Given the description of an element on the screen output the (x, y) to click on. 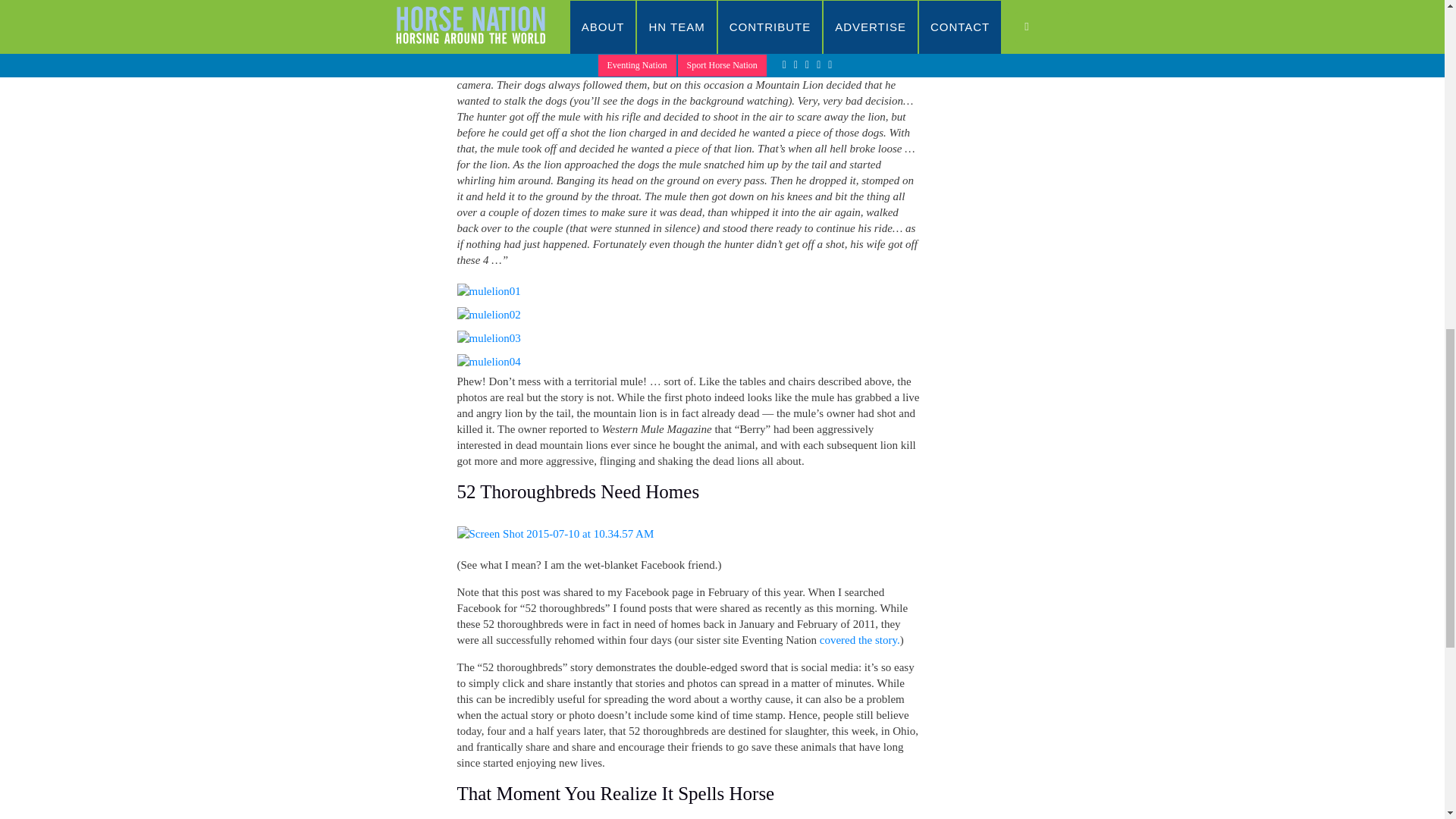
covered the story. (859, 639)
